Given the description of an element on the screen output the (x, y) to click on. 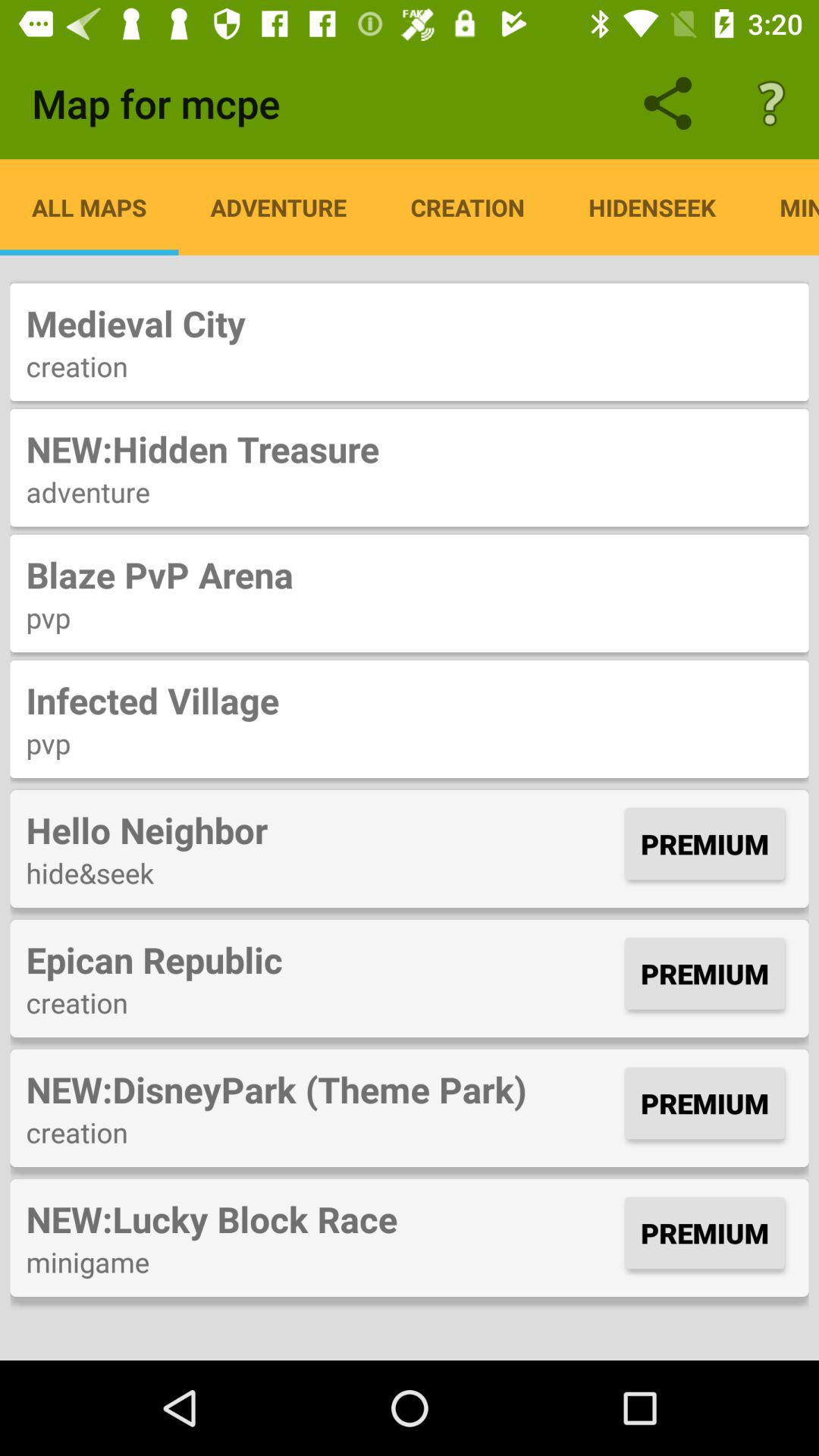
flip until the hello neighbor item (321, 829)
